Given the description of an element on the screen output the (x, y) to click on. 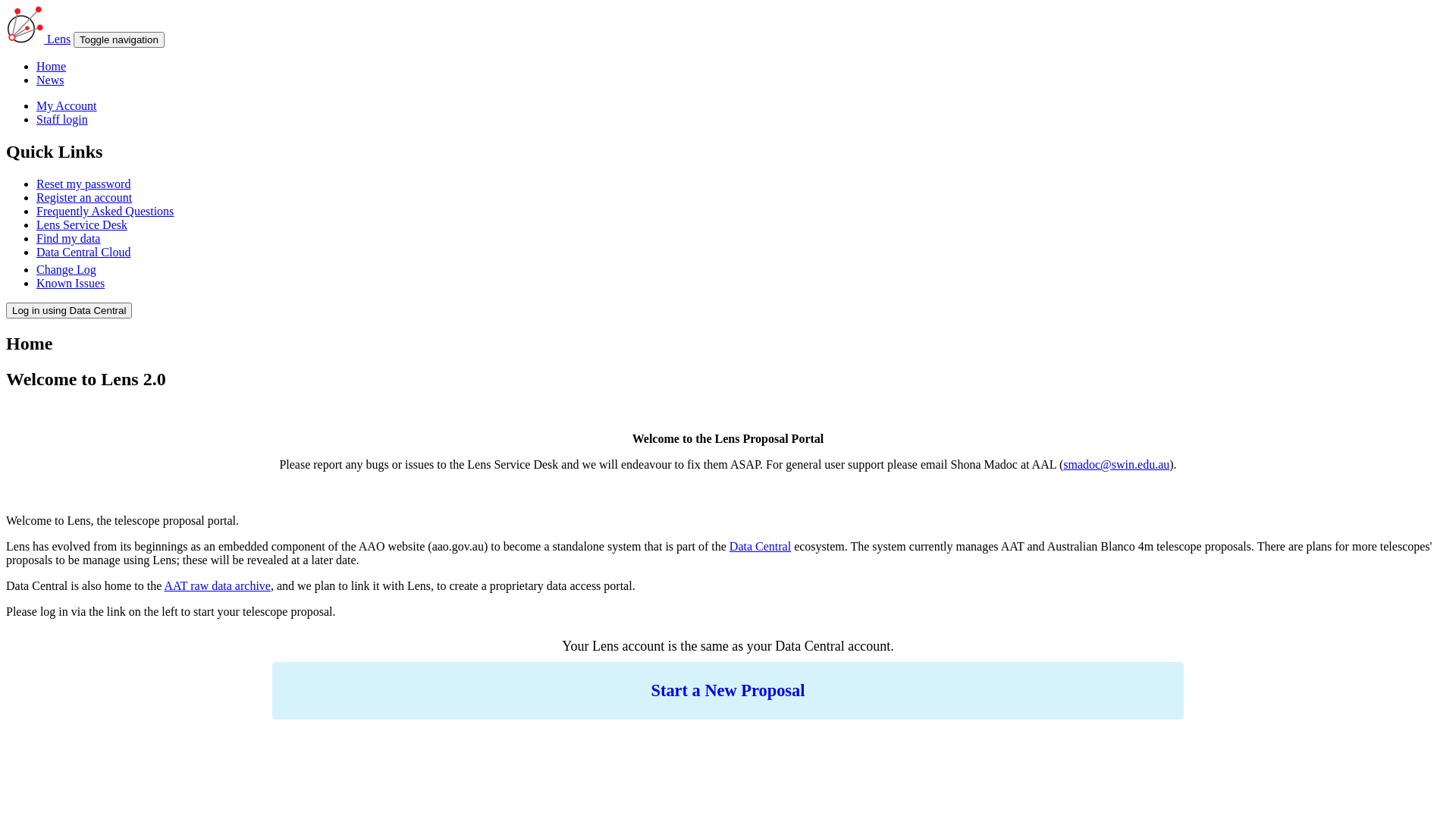
News Element type: text (49, 79)
Register an account Element type: text (83, 197)
Data Central Cloud Element type: text (83, 251)
smadoc@swin.edu.au Element type: text (1116, 464)
Frequently Asked Questions Element type: text (104, 210)
AAT raw data archive Element type: text (216, 585)
Lens Element type: text (58, 38)
Staff login Element type: text (61, 118)
Home Element type: text (50, 65)
Start a New Proposal Element type: text (728, 689)
My Account Element type: text (66, 105)
Find my data Element type: text (68, 238)
Data Central Element type: text (759, 545)
Log in using Data Central Element type: text (68, 310)
Reset my password Element type: text (83, 183)
Skip to main content Element type: text (56, 6)
Known Issues Element type: text (70, 282)
Change Log Element type: text (66, 269)
Toggle navigation Element type: text (118, 39)
Lens Service Desk Element type: text (81, 224)
Home Element type: hover (26, 38)
